Given the description of an element on the screen output the (x, y) to click on. 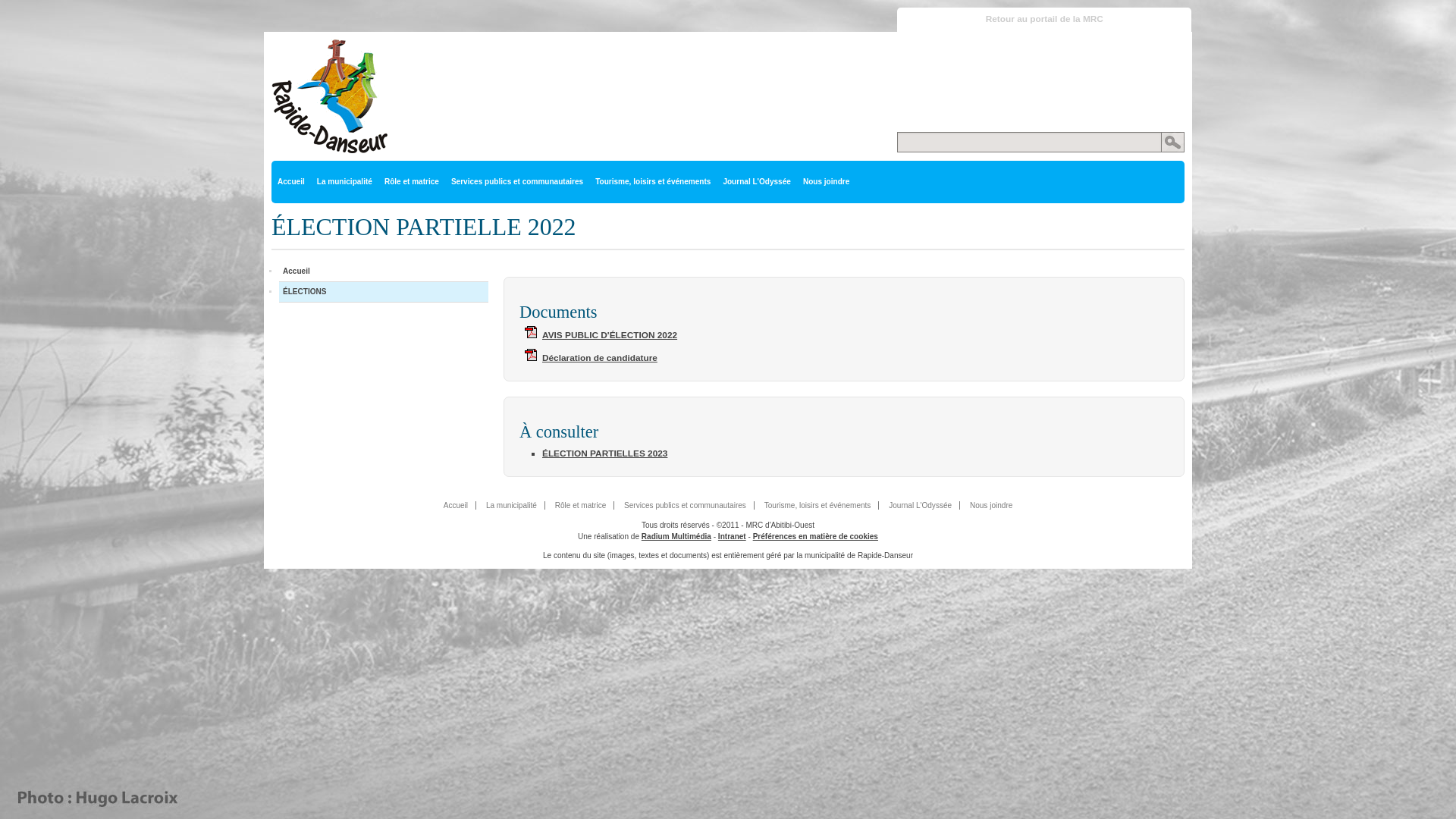
Intranet Element type: text (732, 536)
Services publics et communautaires Element type: text (517, 181)
Accueil Element type: text (383, 271)
Nous joindre Element type: text (826, 181)
Accueil Element type: text (456, 504)
Services publics et communautaires Element type: text (685, 504)
Nous joindre Element type: text (990, 504)
Accueil Element type: text (290, 181)
Retour au portail de la MRC Element type: text (1044, 19)
